Given the description of an element on the screen output the (x, y) to click on. 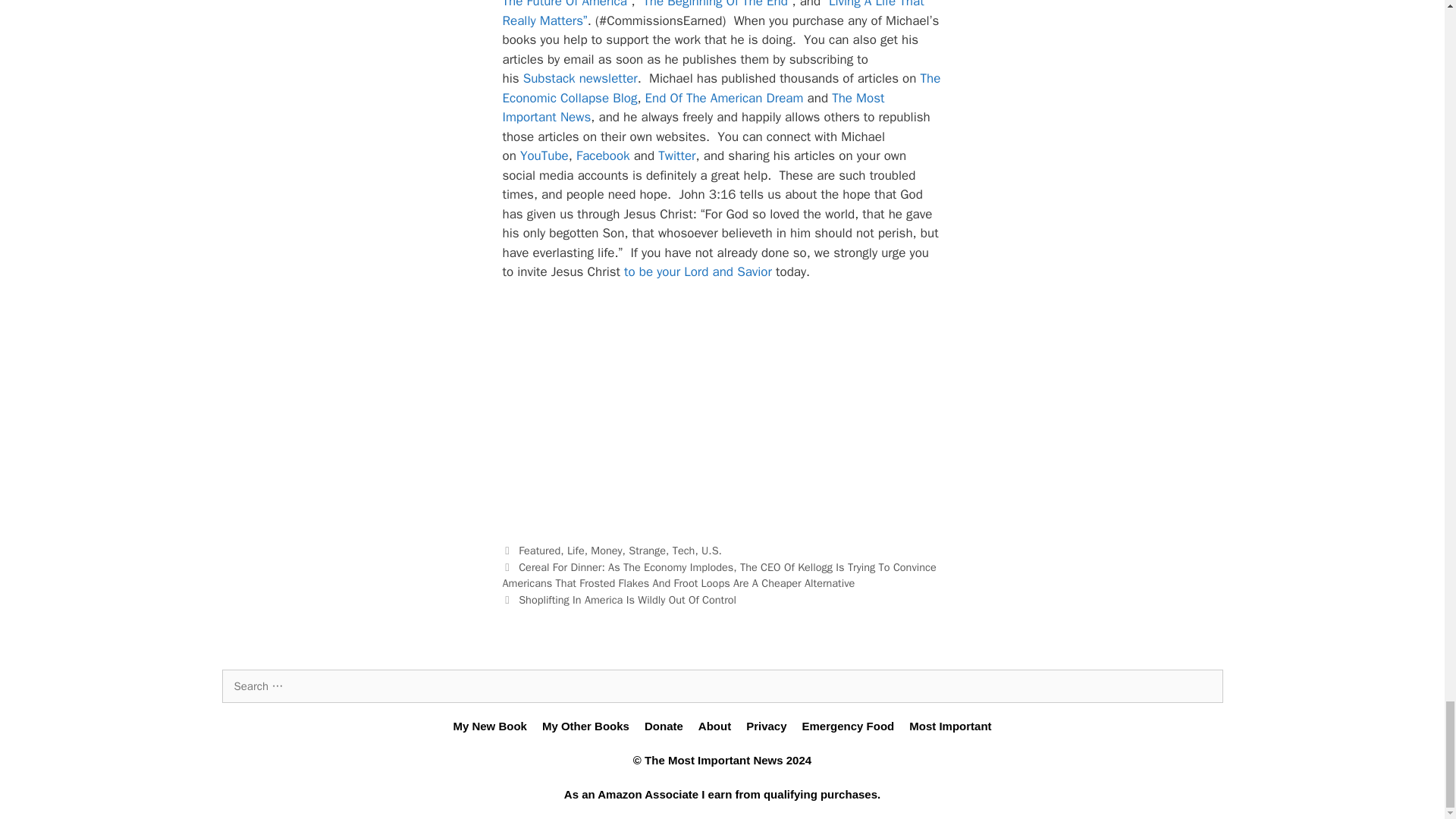
The Most Important News (692, 108)
The Economic Collapse Blog (721, 88)
Twitter (676, 155)
YouTube (544, 155)
Facebook (603, 155)
Featured (539, 550)
to be your Lord and Savior (697, 271)
Money (606, 550)
Life (576, 550)
Substack newsletter (579, 78)
End Of The American Dream (724, 98)
Strange (646, 550)
